Given the description of an element on the screen output the (x, y) to click on. 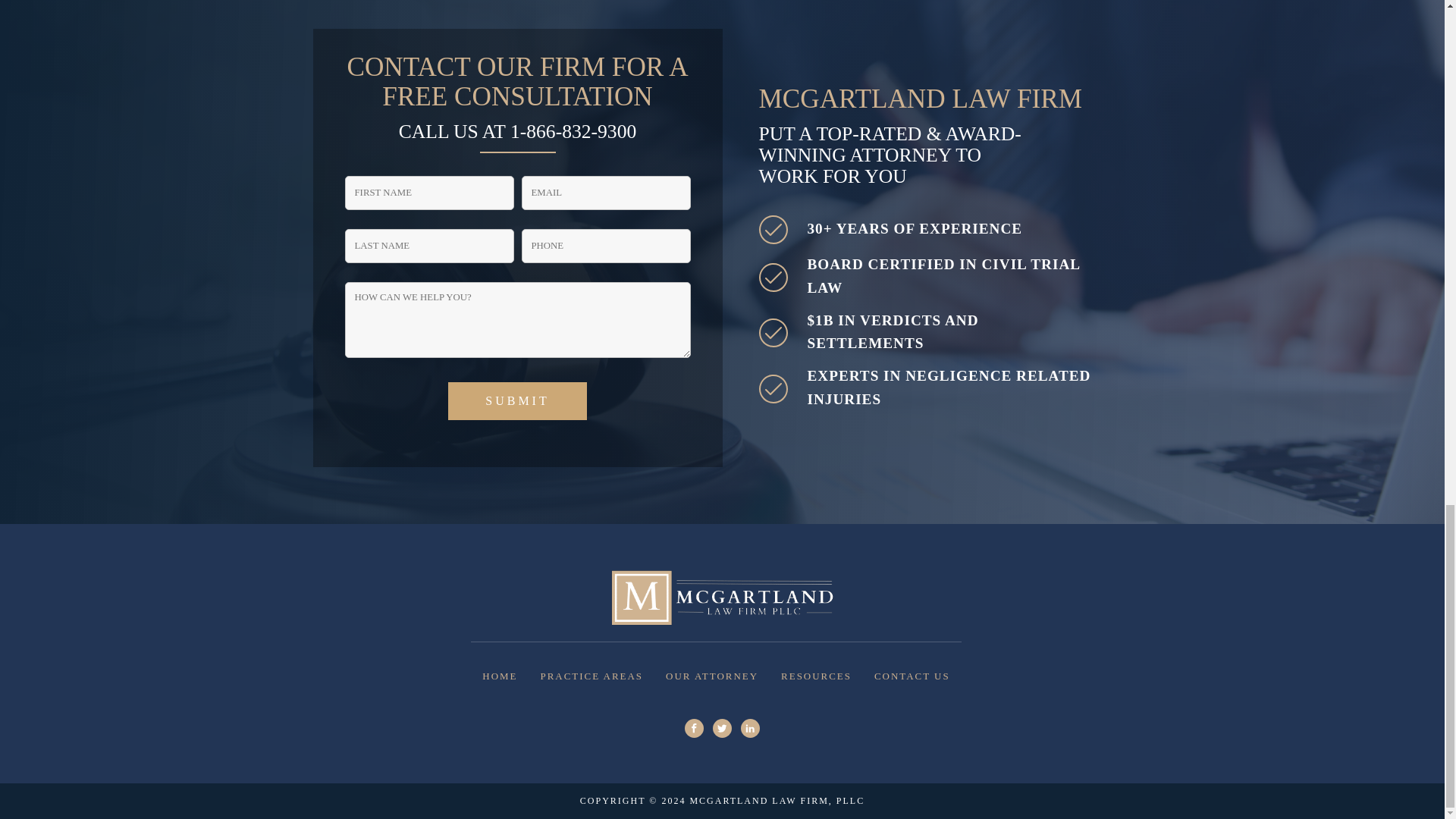
Submit (517, 401)
